Given the description of an element on the screen output the (x, y) to click on. 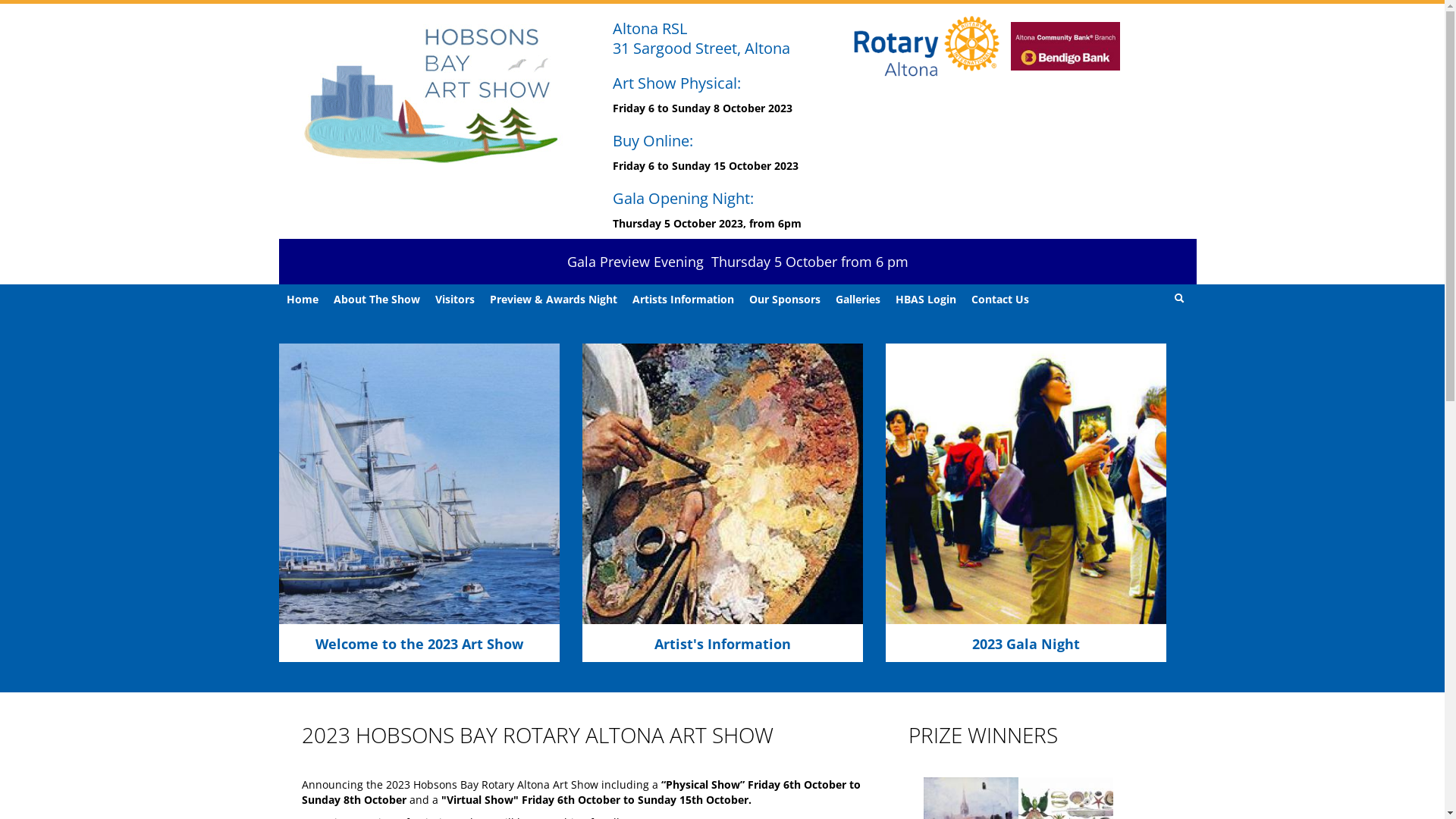
Contact Us Element type: text (999, 299)
Buy Online: Element type: text (652, 140)
Galleries Element type: text (858, 299)
Our Sponsors Element type: text (784, 299)
Art Show Physical: Element type: text (676, 82)
Preview & Awards Night Element type: text (553, 299)
Home Element type: text (302, 299)
Artist's Information Element type: text (721, 643)
Welcome to the 2023 Art Show Element type: text (419, 643)
Altona Community Bank Branches - Bendigo Bank Element type: hover (1064, 46)
Artists Information Element type: text (682, 299)
HBAS Login Element type: text (925, 299)
About The Show Element type: text (376, 299)
2023 Gala Night Element type: text (1025, 643)
Gala Preview Evening  Thursday 5 October from 6 pm Element type: text (737, 261)
Visitors Element type: text (454, 299)
